Given the description of an element on the screen output the (x, y) to click on. 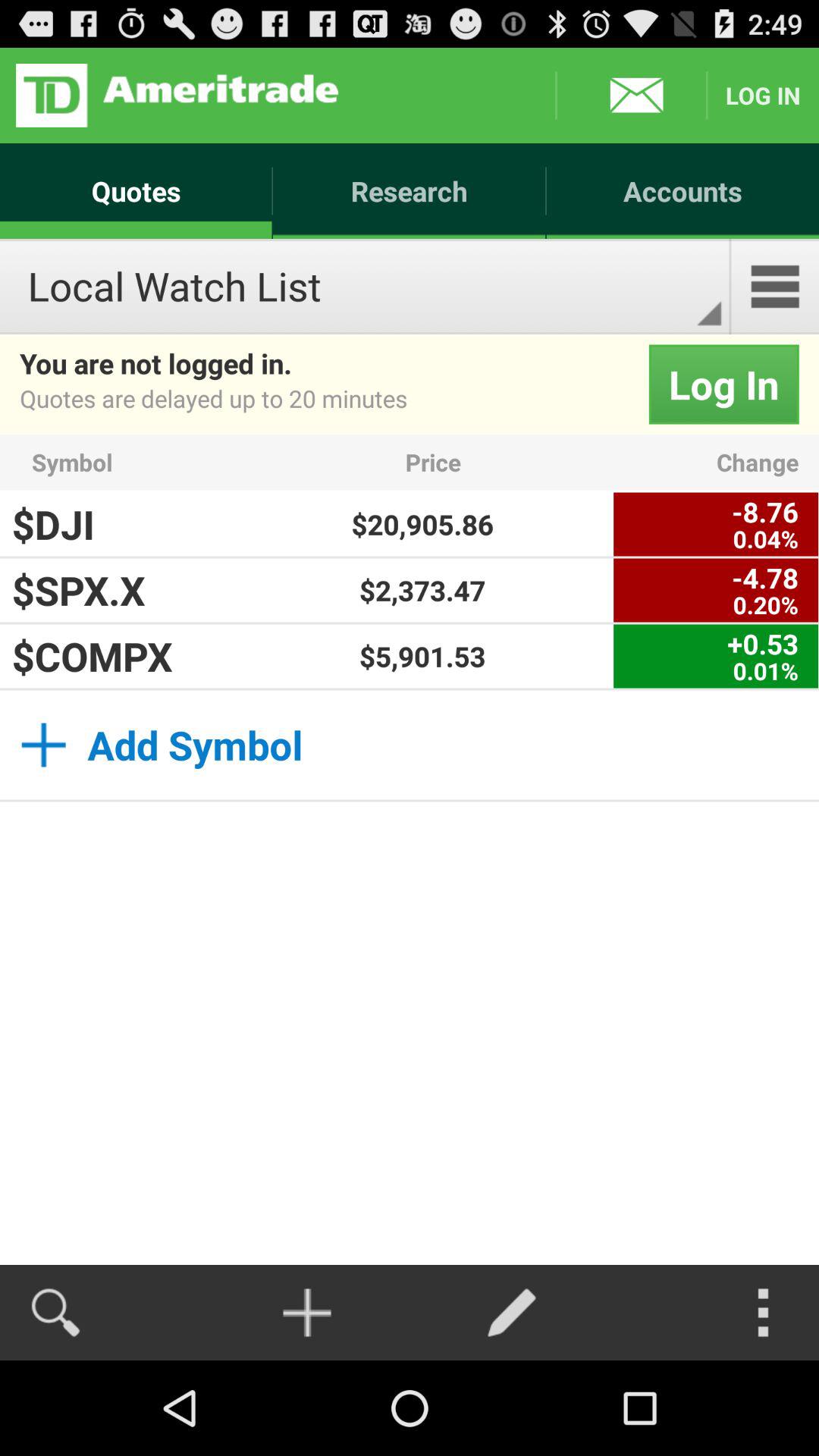
jump until $2,373.47 (422, 590)
